Given the description of an element on the screen output the (x, y) to click on. 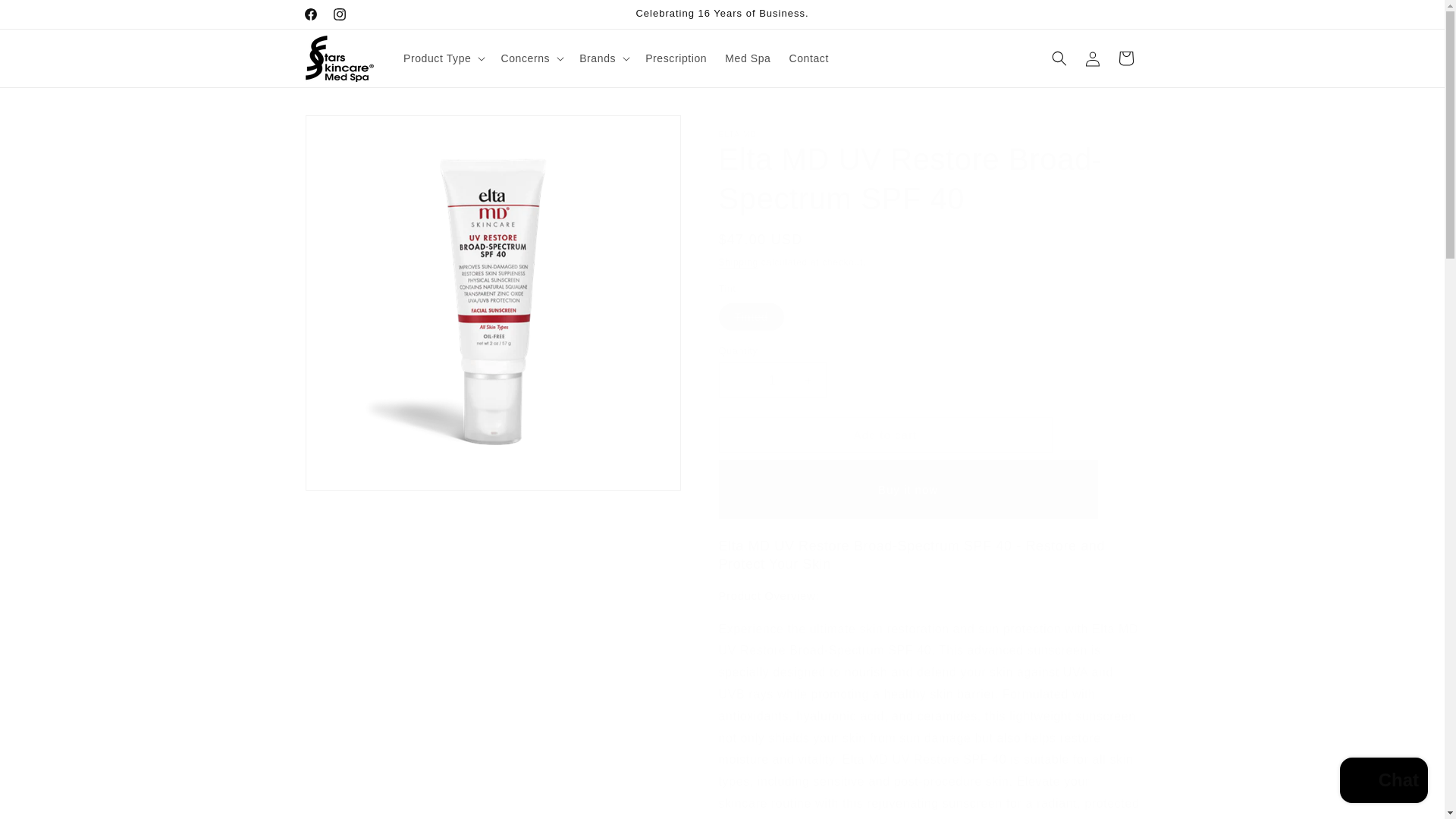
Instagram (338, 14)
Shopify online store chat (1383, 781)
Skip to content (45, 17)
Facebook (309, 14)
1 (773, 380)
